Given the description of an element on the screen output the (x, y) to click on. 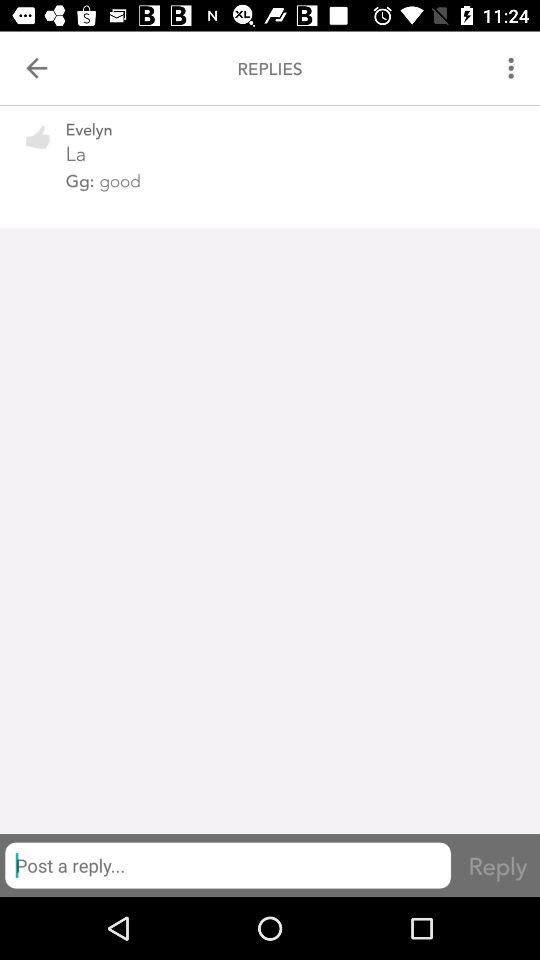
select item to the left of the reply item (227, 865)
